Given the description of an element on the screen output the (x, y) to click on. 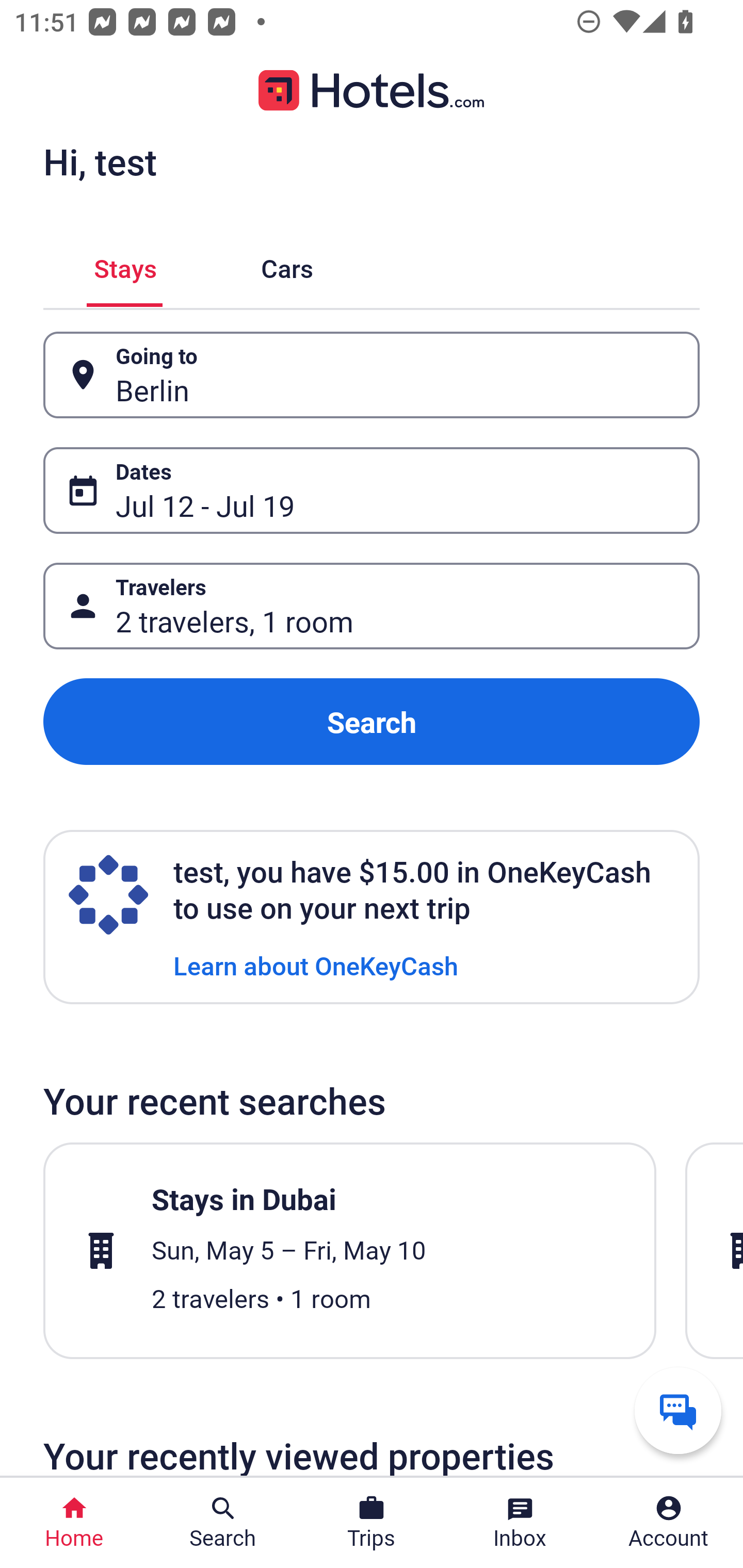
Hi, test (99, 161)
Cars (286, 265)
Going to Button Berlin (371, 375)
Dates Button Jul 12 - Jul 19 (371, 489)
Travelers Button 2 travelers, 1 room (371, 605)
Search (371, 721)
Learn about OneKeyCash Learn about OneKeyCash Link (315, 964)
Get help from a virtual agent (677, 1410)
Search Search Button (222, 1522)
Trips Trips Button (371, 1522)
Inbox Inbox Button (519, 1522)
Account Profile. Button (668, 1522)
